Given the description of an element on the screen output the (x, y) to click on. 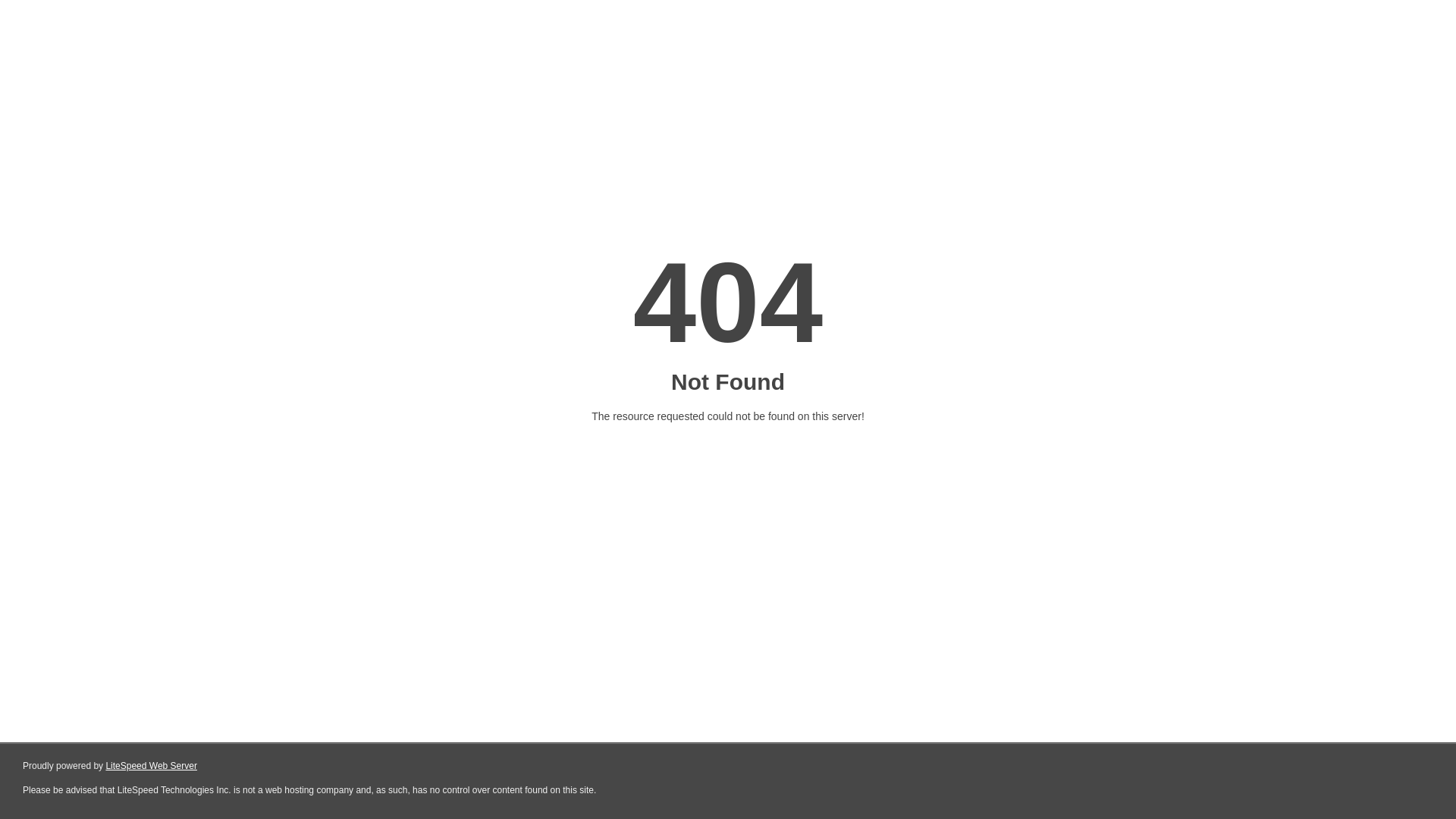
LiteSpeed Web Server Element type: text (151, 765)
